Given the description of an element on the screen output the (x, y) to click on. 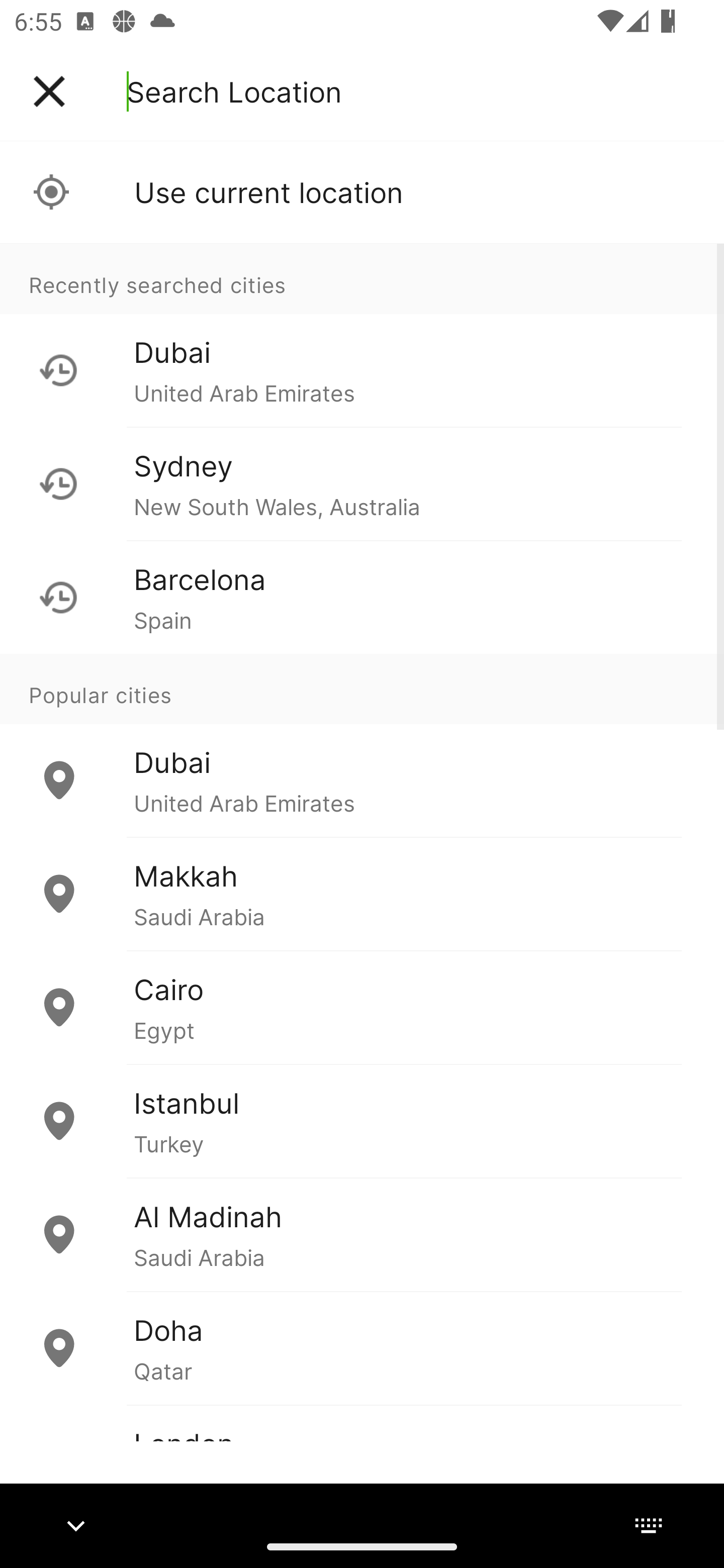
Search Location (234, 91)
Use current location (362, 192)
Recently searched cities (362, 278)
Sydney New South Wales, Australia (362, 483)
Barcelona Spain (362, 596)
Popular cities Dubai United Arab Emirates (362, 745)
Popular cities (362, 688)
Makkah Saudi Arabia (362, 893)
Cairo Egypt (362, 1007)
Istanbul Turkey (362, 1120)
Al Madinah Saudi Arabia (362, 1233)
Doha Qatar (362, 1347)
